Given the description of an element on the screen output the (x, y) to click on. 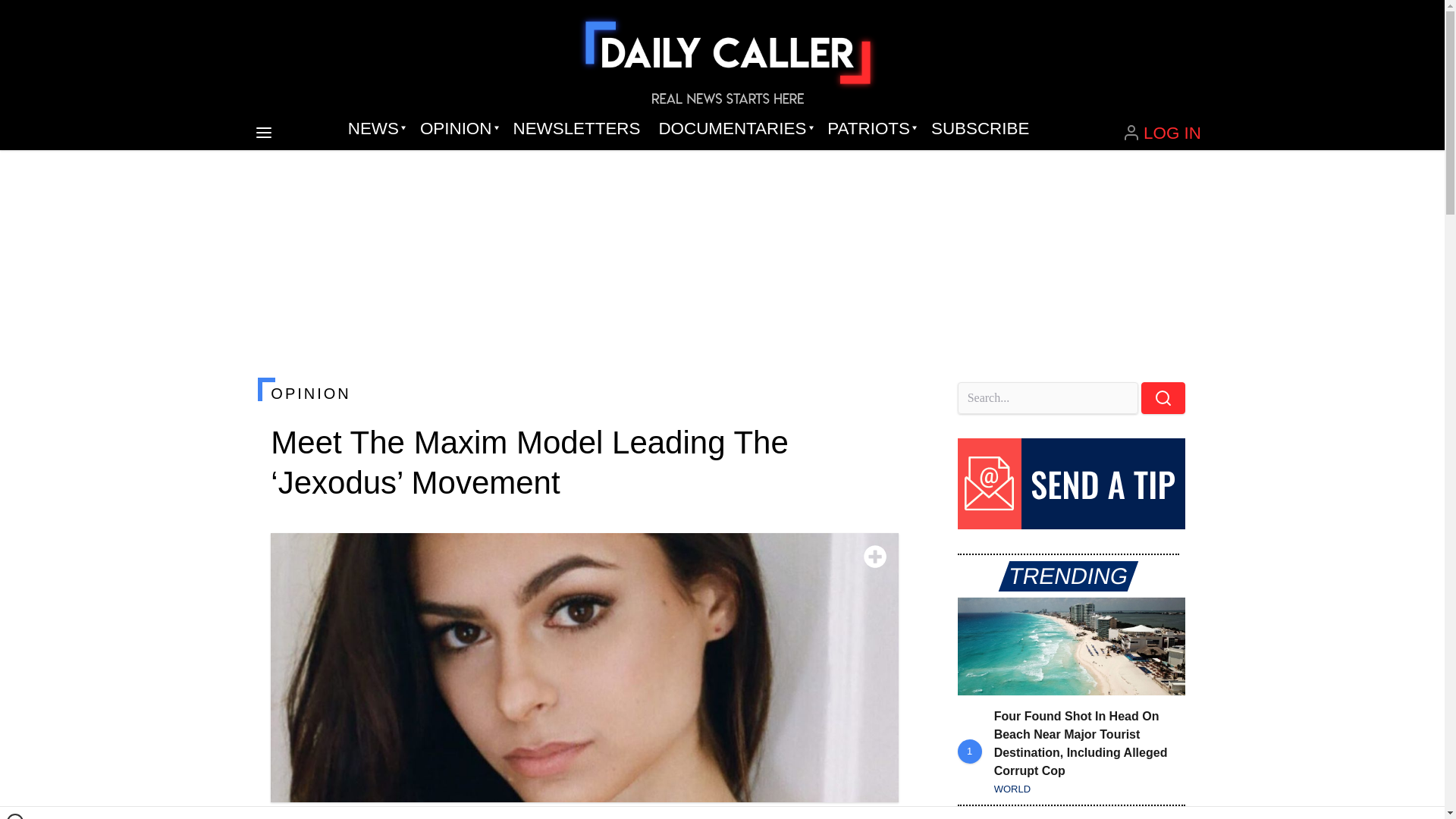
OPINION (584, 393)
NEWSLETTERS (576, 128)
DOCUMENTARIES (733, 128)
Toggle fullscreen (874, 556)
OPINION (456, 128)
PATRIOTS (869, 128)
NEWS (374, 128)
Close window (14, 816)
SUBSCRIBE (979, 128)
